Given the description of an element on the screen output the (x, y) to click on. 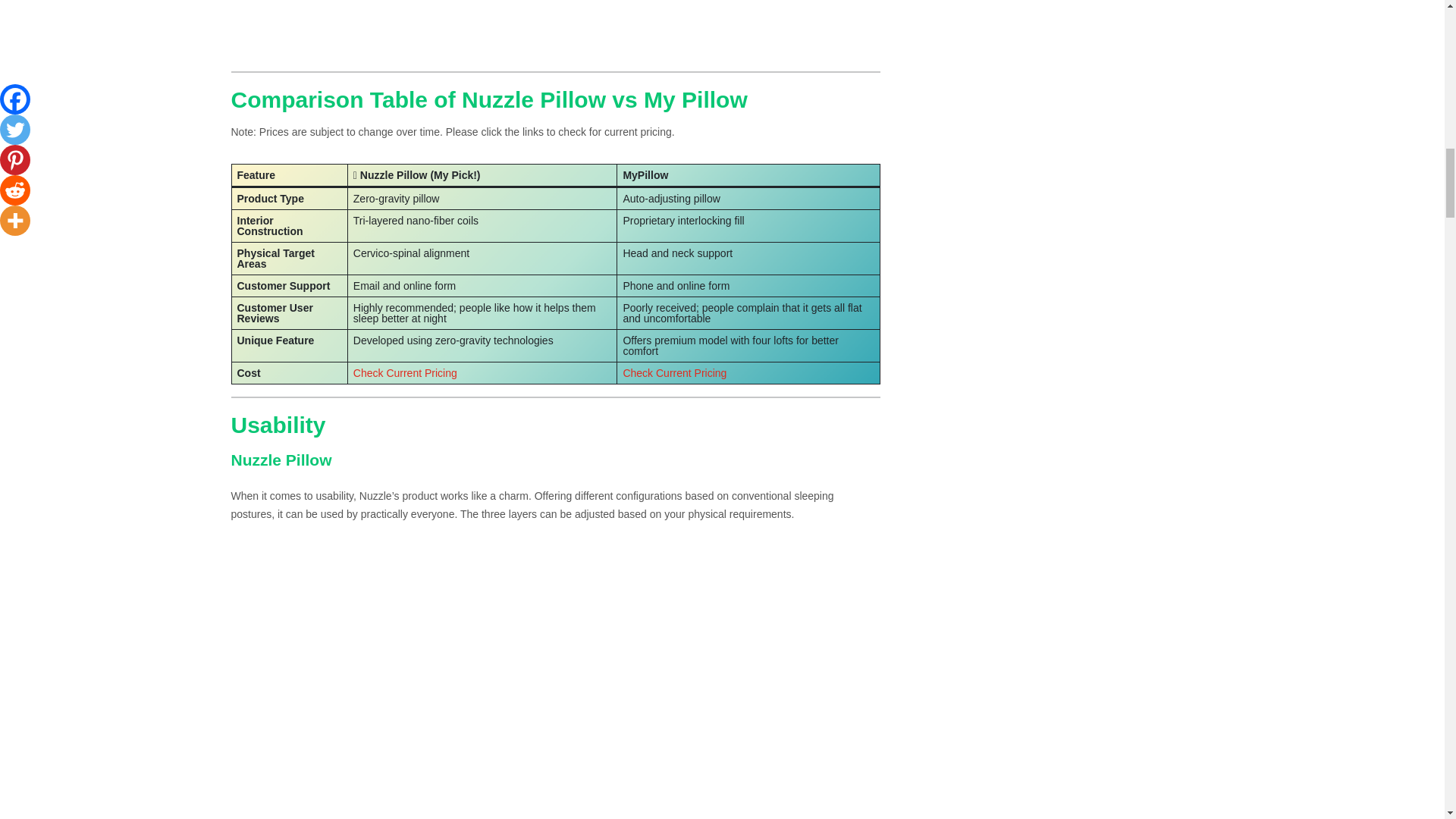
Check Current Pricing (405, 372)
mypillow 3 (554, 23)
Check Current Pricing (674, 372)
